Given the description of an element on the screen output the (x, y) to click on. 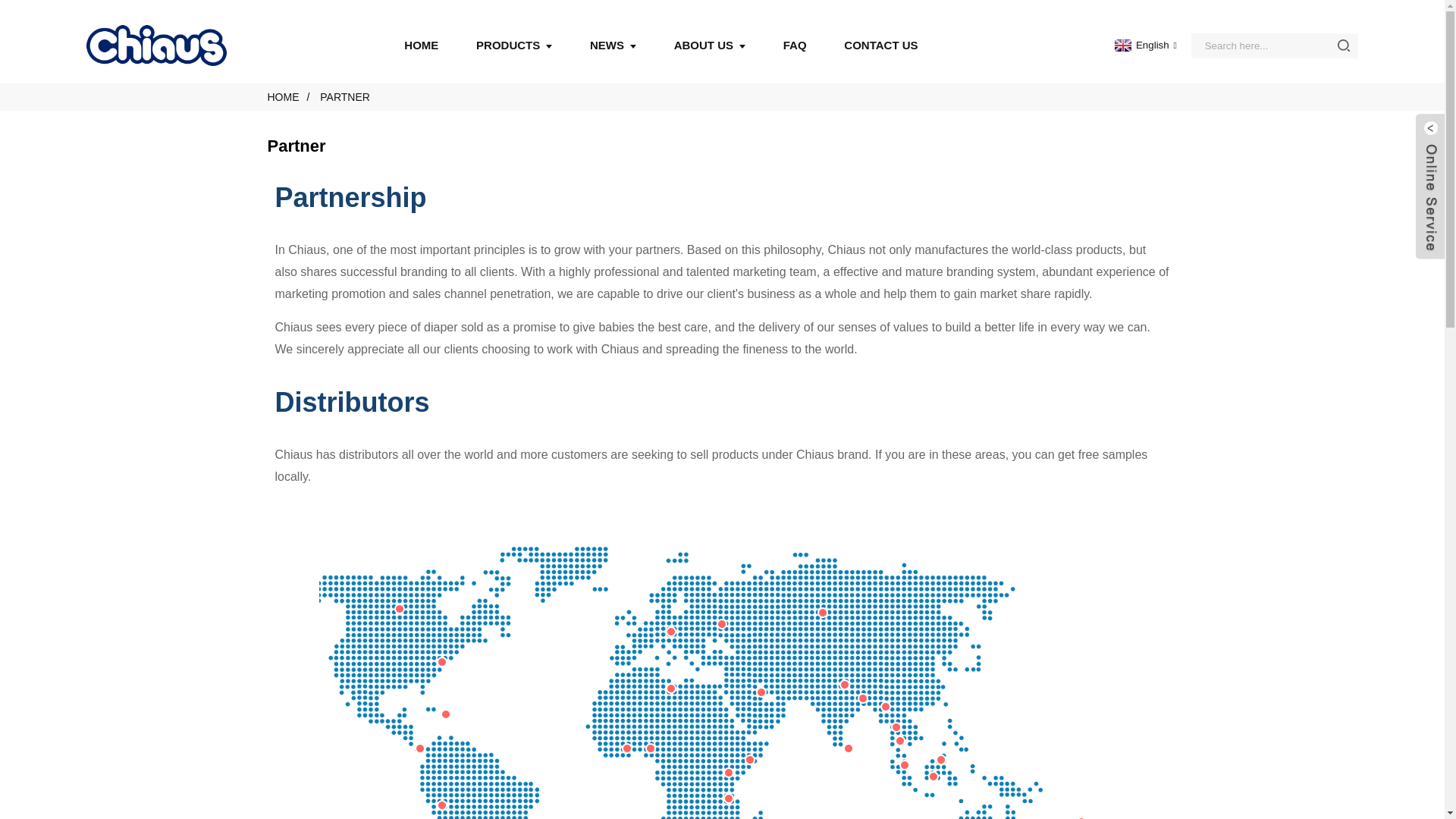
PRODUCTS (513, 45)
English (1143, 44)
ABOUT US (709, 45)
CONTACT US (880, 45)
